Given the description of an element on the screen output the (x, y) to click on. 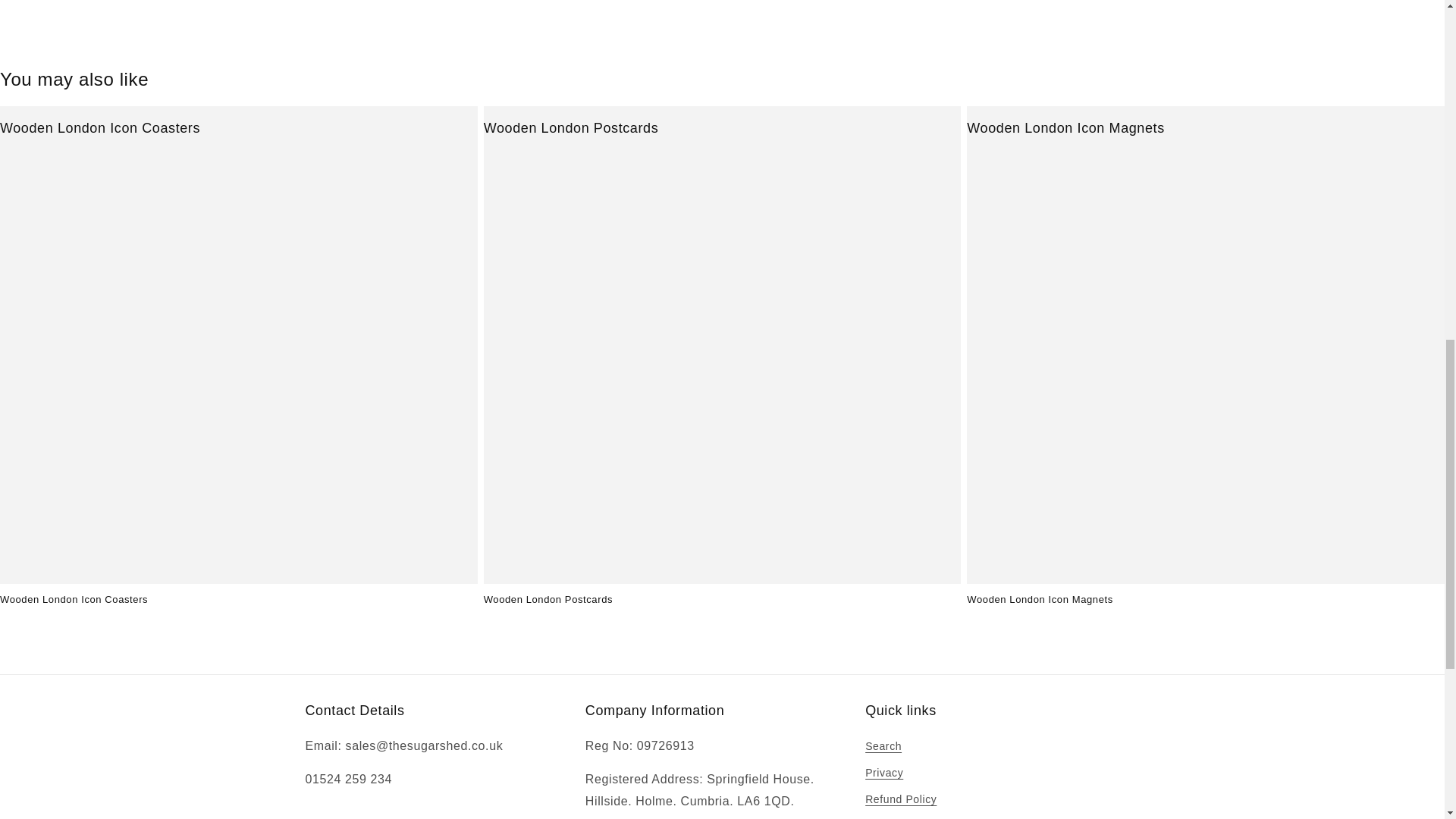
Wooden London Icon Coasters (238, 599)
Wooden London Postcards (721, 599)
Wooden London Icon Magnets (1064, 128)
Wooden London Postcards (571, 128)
Wooden London Icon Coasters (100, 128)
